Given the description of an element on the screen output the (x, y) to click on. 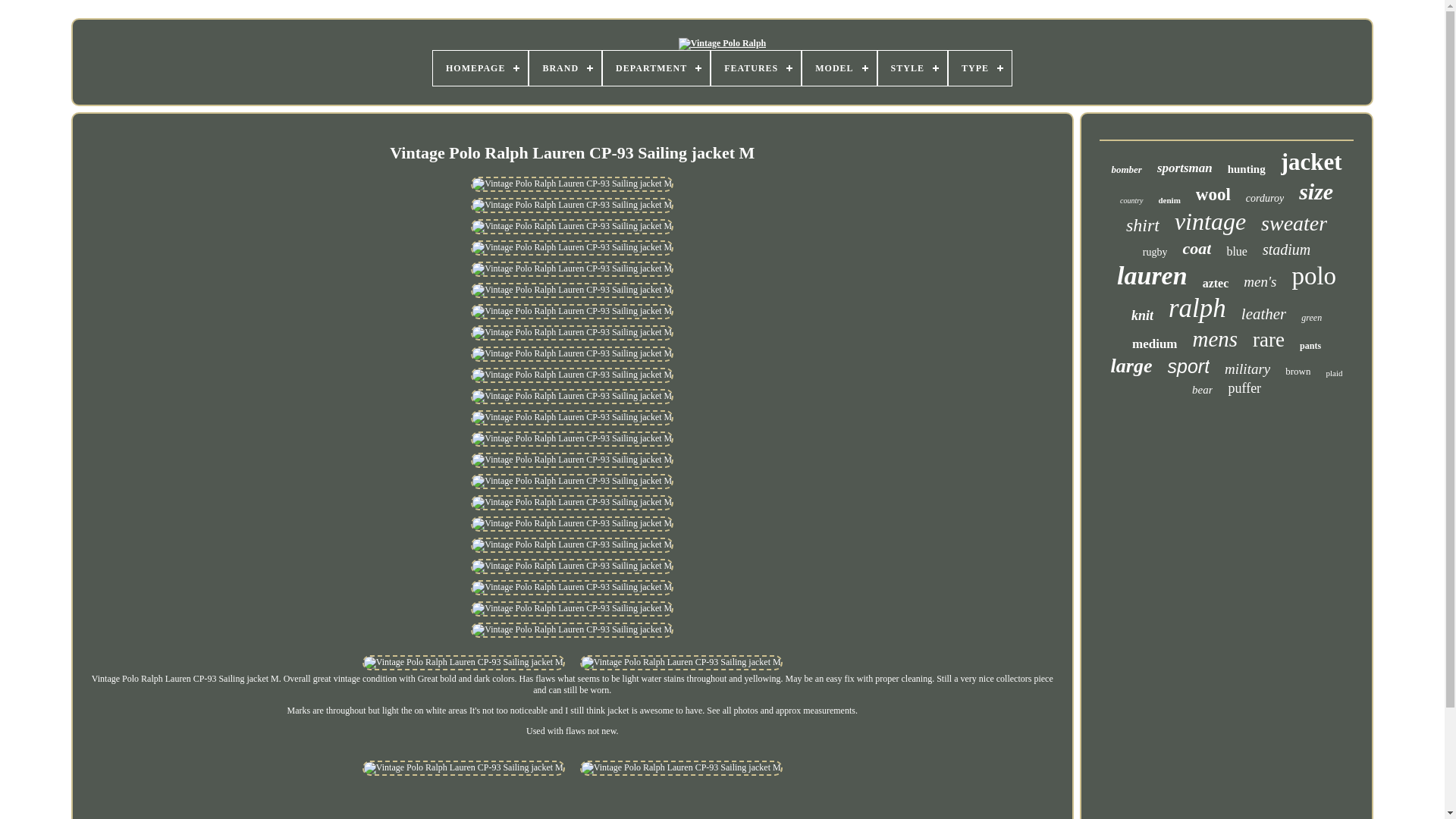
Vintage Polo Ralph Lauren CP-93 Sailing jacket M (571, 587)
Vintage Polo Ralph Lauren CP-93 Sailing jacket M (571, 375)
HOMEPAGE (479, 67)
Vintage Polo Ralph Lauren CP-93 Sailing jacket M (571, 226)
Vintage Polo Ralph Lauren CP-93 Sailing jacket M (571, 183)
Vintage Polo Ralph Lauren CP-93 Sailing jacket M (571, 438)
Vintage Polo Ralph Lauren CP-93 Sailing jacket M (571, 396)
Vintage Polo Ralph Lauren CP-93 Sailing jacket M (571, 566)
Vintage Polo Ralph Lauren CP-93 Sailing jacket M (571, 268)
Vintage Polo Ralph Lauren CP-93 Sailing jacket M (571, 502)
Vintage Polo Ralph Lauren CP-93 Sailing jacket M (571, 205)
Vintage Polo Ralph Lauren CP-93 Sailing jacket M (571, 523)
Vintage Polo Ralph Lauren CP-93 Sailing jacket M (571, 417)
Vintage Polo Ralph Lauren CP-93 Sailing jacket M (571, 311)
Vintage Polo Ralph Lauren CP-93 Sailing jacket M (571, 247)
